Given the description of an element on the screen output the (x, y) to click on. 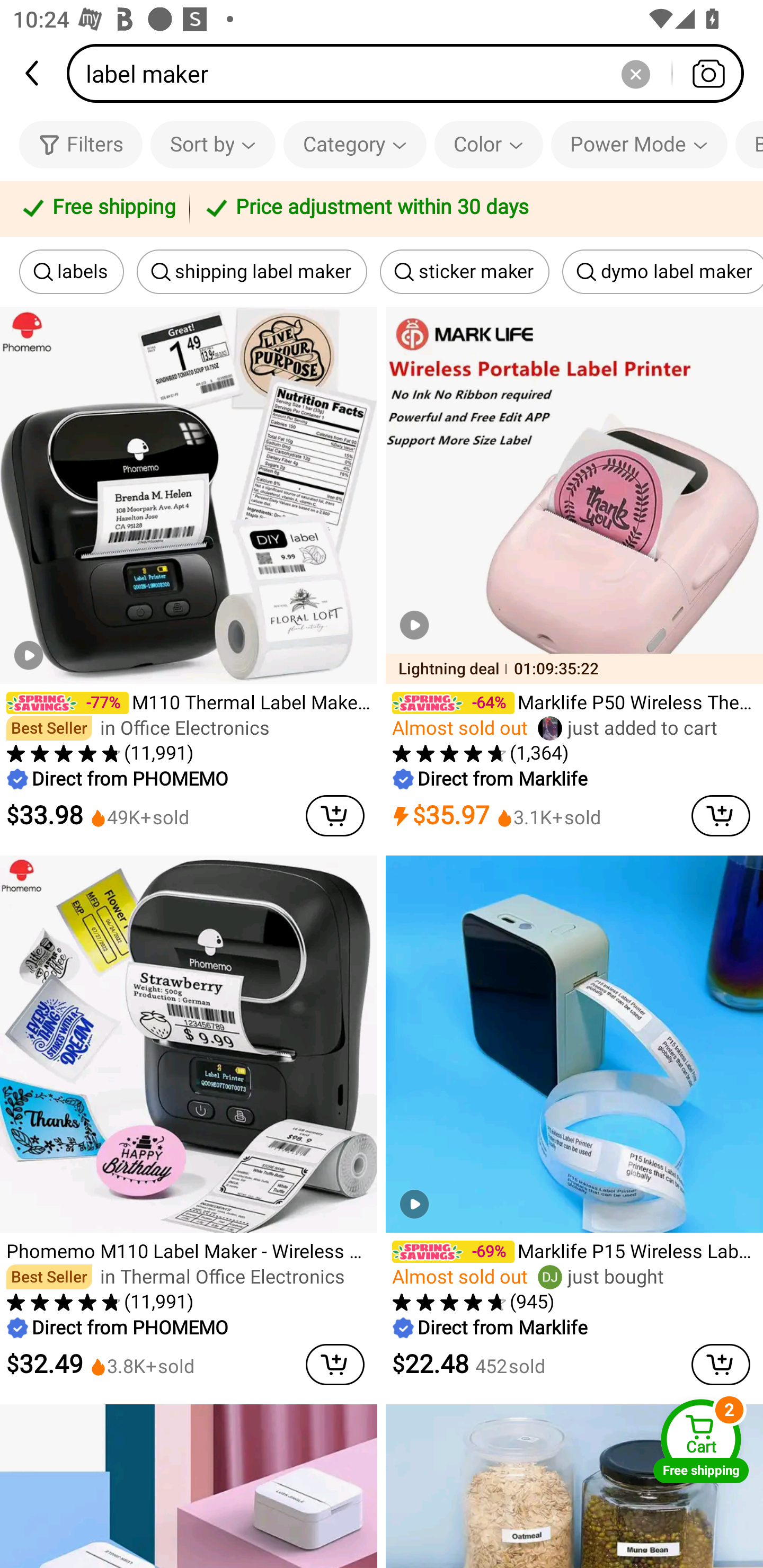
back (33, 72)
label maker (411, 73)
Delete search history (635, 73)
Search by photo (708, 73)
Filters (80, 143)
Sort by (212, 143)
Category (354, 143)
Color (488, 143)
Power Mode (638, 143)
Free shipping (97, 208)
Price adjustment within 30 days (472, 208)
labels (71, 271)
shipping label maker (251, 271)
sticker maker (464, 271)
dymo label maker (662, 271)
cart delete (334, 814)
cart delete (720, 814)
cart delete (334, 1363)
cart delete (720, 1363)
Cart Free shipping Cart (701, 1440)
